Given the description of an element on the screen output the (x, y) to click on. 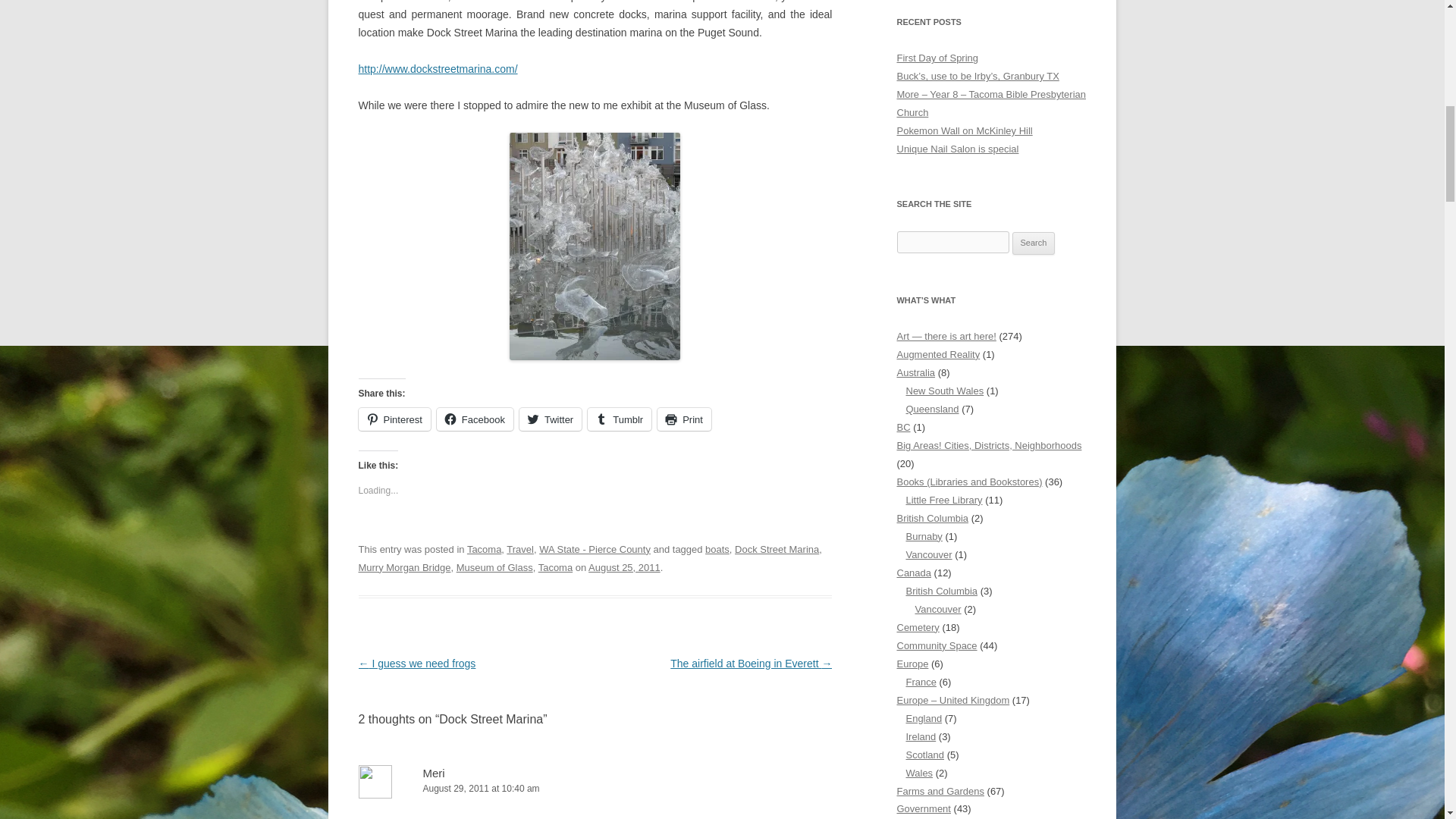
Museum of Glass (494, 567)
Print (684, 418)
Murry Morgan Bridge (403, 567)
Twitter (549, 418)
Meri (434, 772)
boats (716, 549)
Click to share on Tumblr (619, 418)
Dock Street Marina (776, 549)
August 25, 2011 (624, 567)
Click to share on Facebook (474, 418)
